Given the description of an element on the screen output the (x, y) to click on. 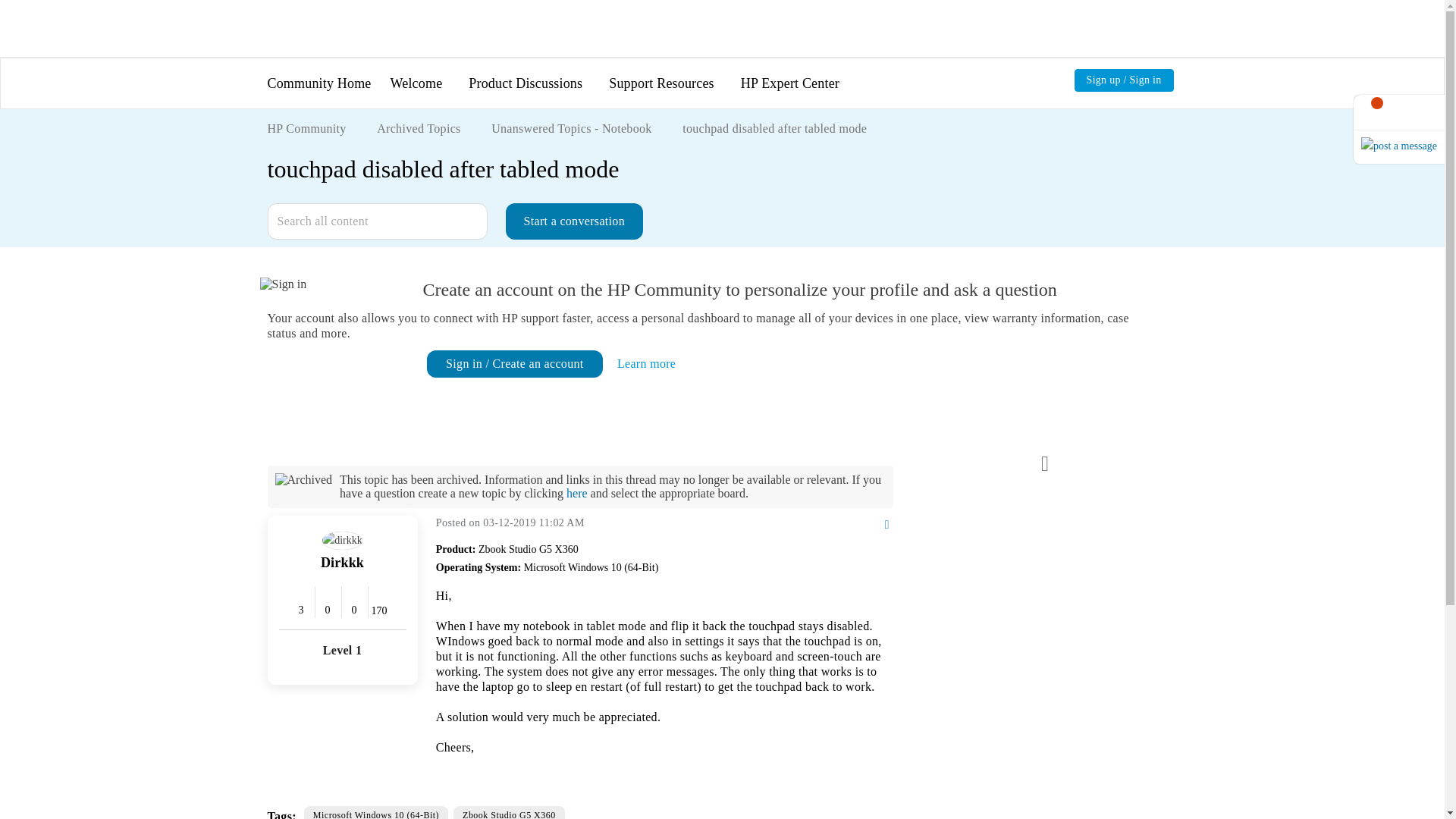
Search (376, 221)
Welcome (416, 82)
dirkkk (341, 540)
Product Discussions (525, 82)
Show option menu (867, 525)
Community Home (318, 82)
